Given the description of an element on the screen output the (x, y) to click on. 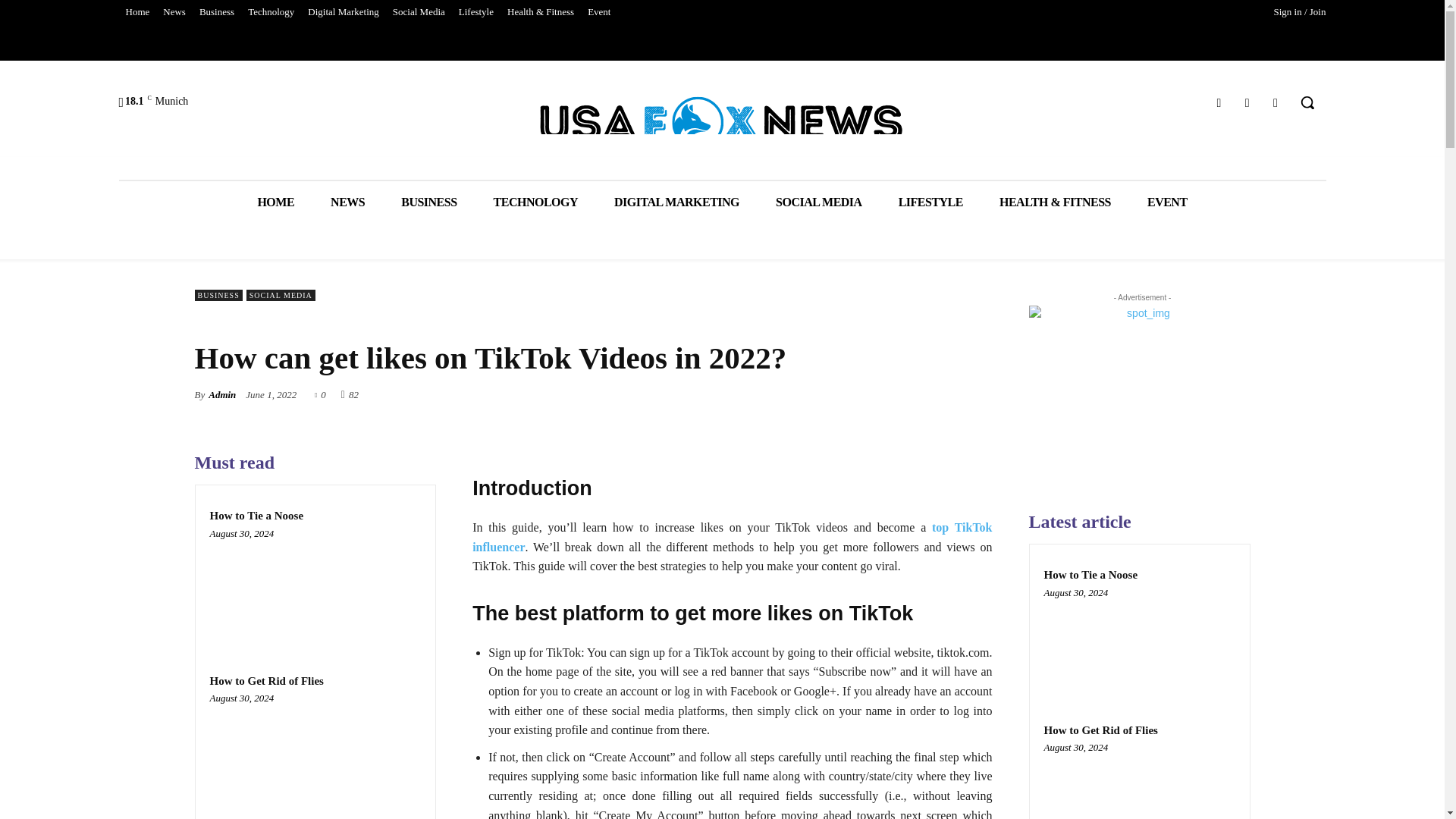
usafoxnews  (721, 121)
Technology (271, 12)
Lifestyle (475, 12)
Twitter (1275, 102)
Business (216, 12)
SOCIAL MEDIA (818, 201)
usafoxnews  (722, 121)
Event (598, 12)
NEWS (347, 201)
Facebook (1218, 102)
